Given the description of an element on the screen output the (x, y) to click on. 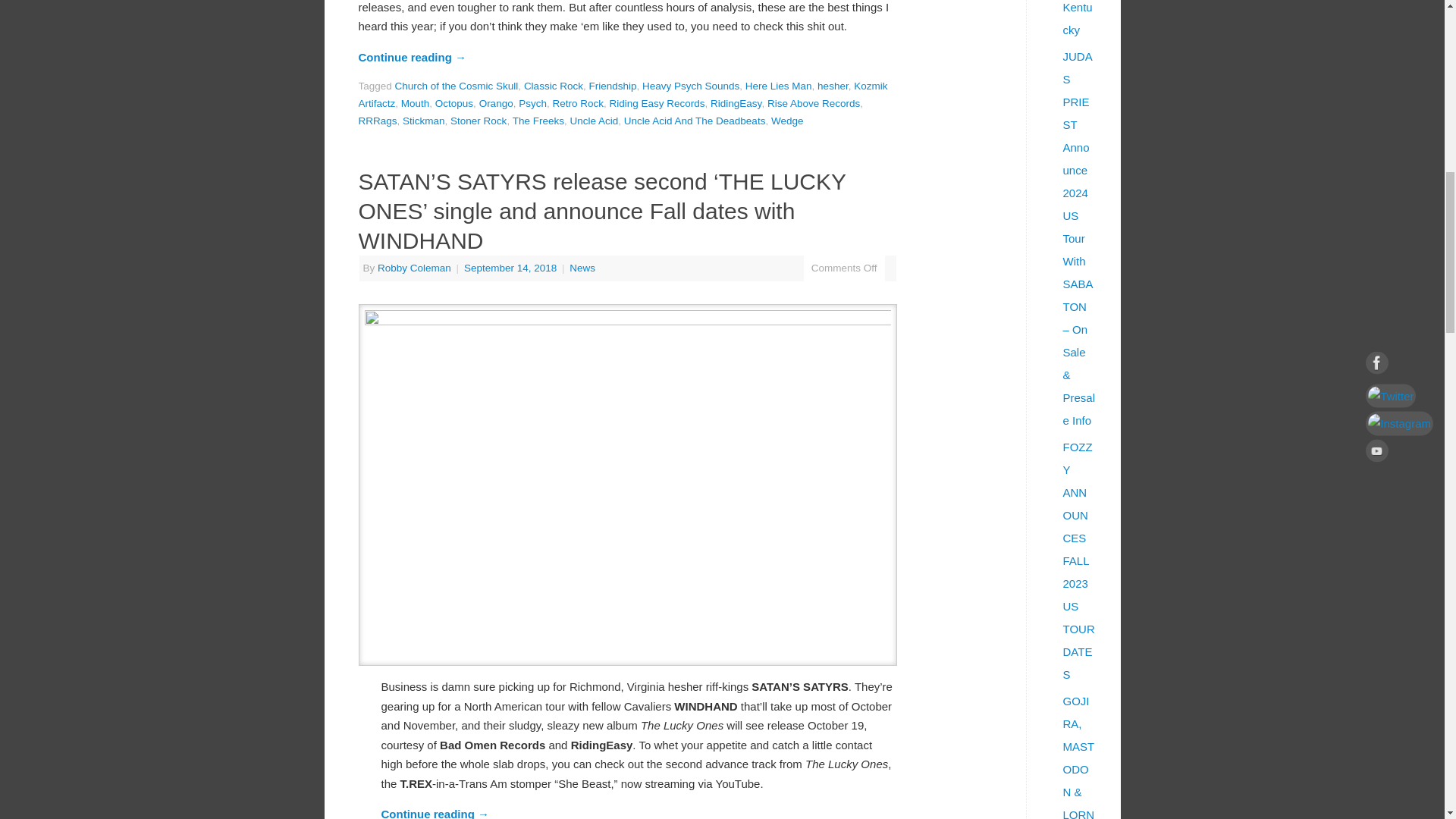
hesher (832, 85)
Here Lies Man (778, 85)
RidingEasy (735, 102)
Friendship (612, 85)
RRRags (377, 120)
Rise Above Records (813, 102)
Riding Easy Records (657, 102)
Psych (532, 102)
Retro Rock (577, 102)
Orango (496, 102)
